Given the description of an element on the screen output the (x, y) to click on. 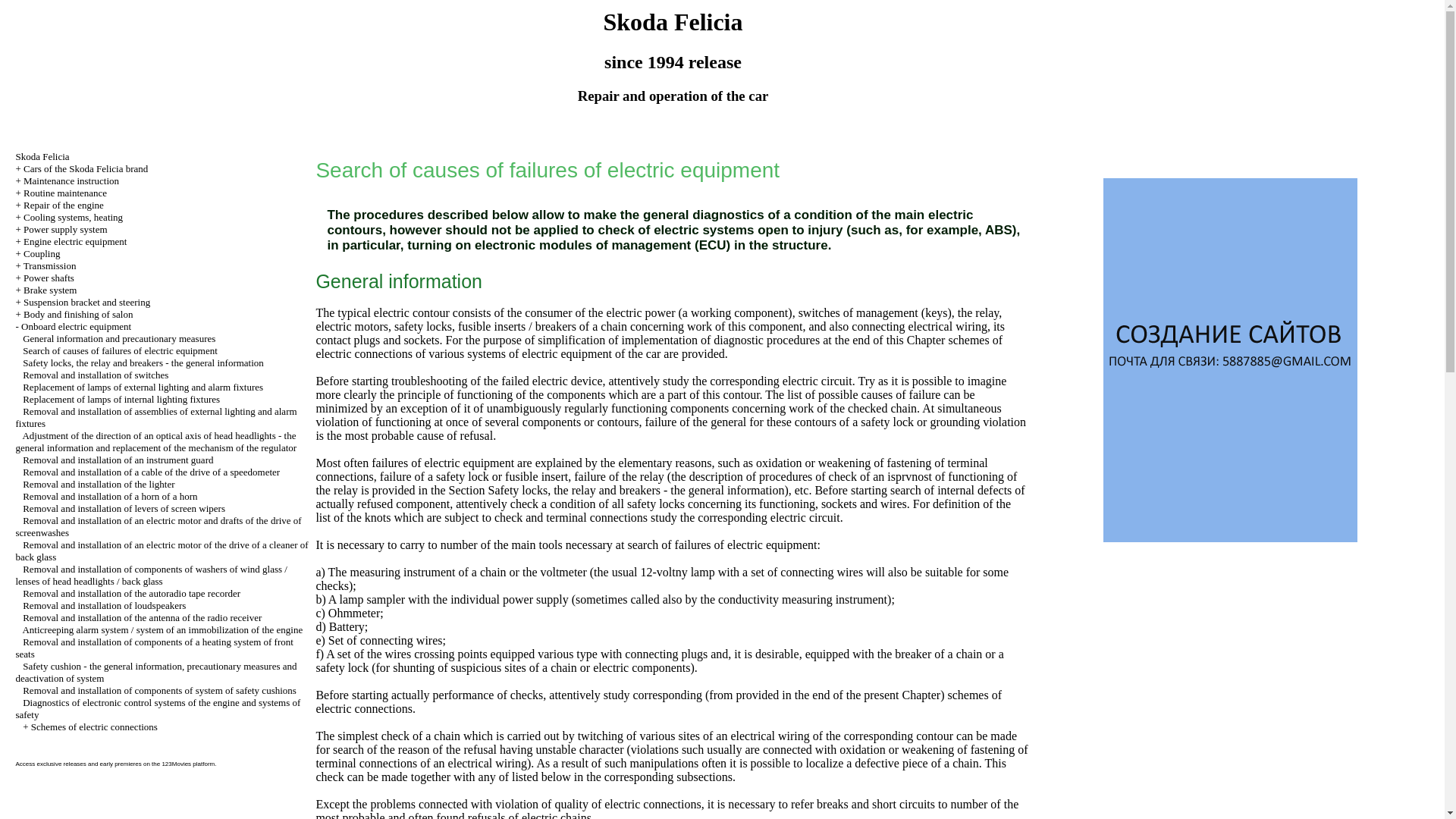
Removal and installation of levers of screen wipers (124, 508)
Routine maintenance (64, 193)
Removal and installation of loudspeakers (104, 604)
Onboard electric equipment (76, 326)
Removal and installation of the lighter (98, 483)
General information and precautionary measures (119, 337)
